Given the description of an element on the screen output the (x, y) to click on. 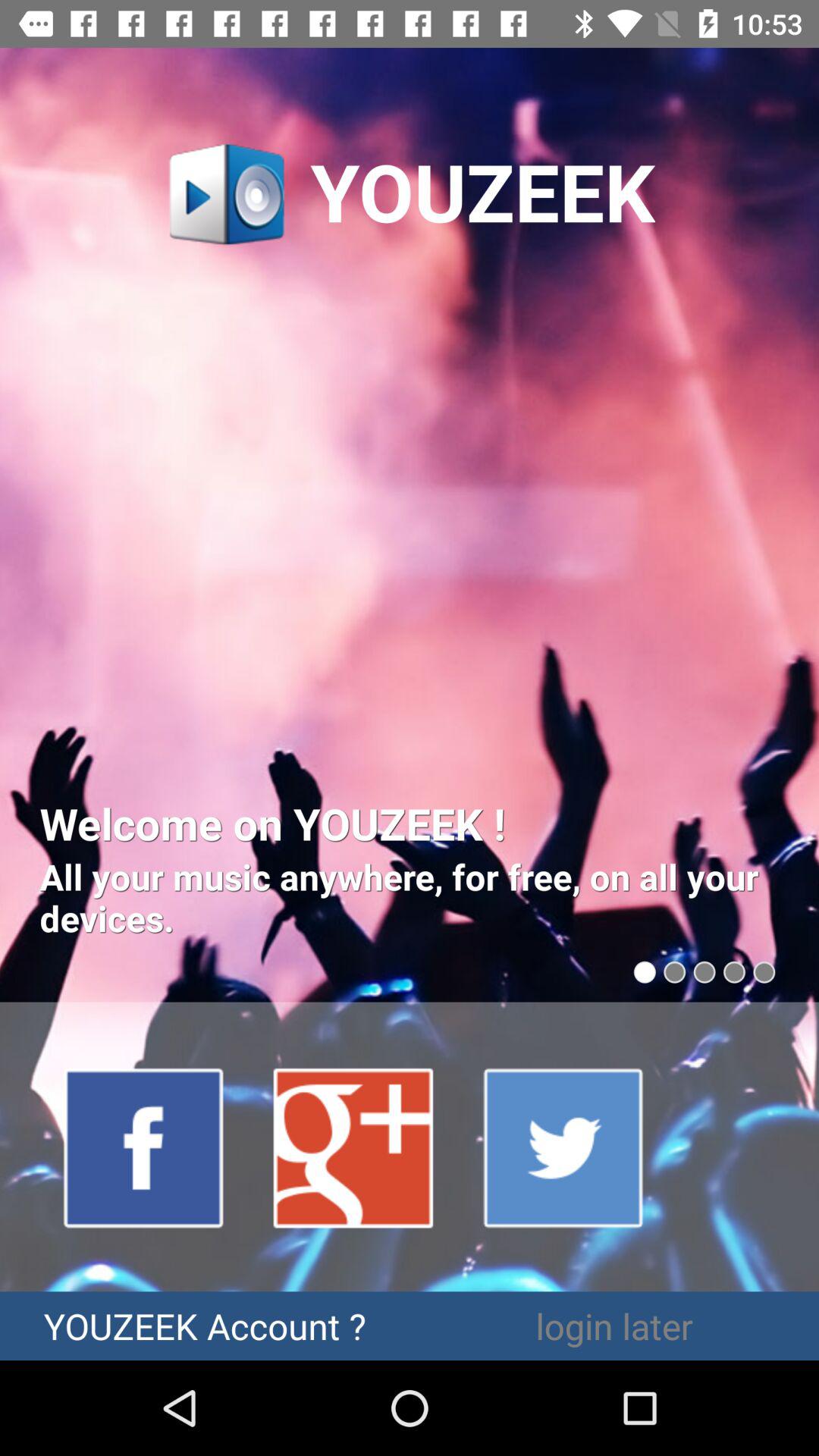
turn on youzeek account ? (204, 1325)
